Given the description of an element on the screen output the (x, y) to click on. 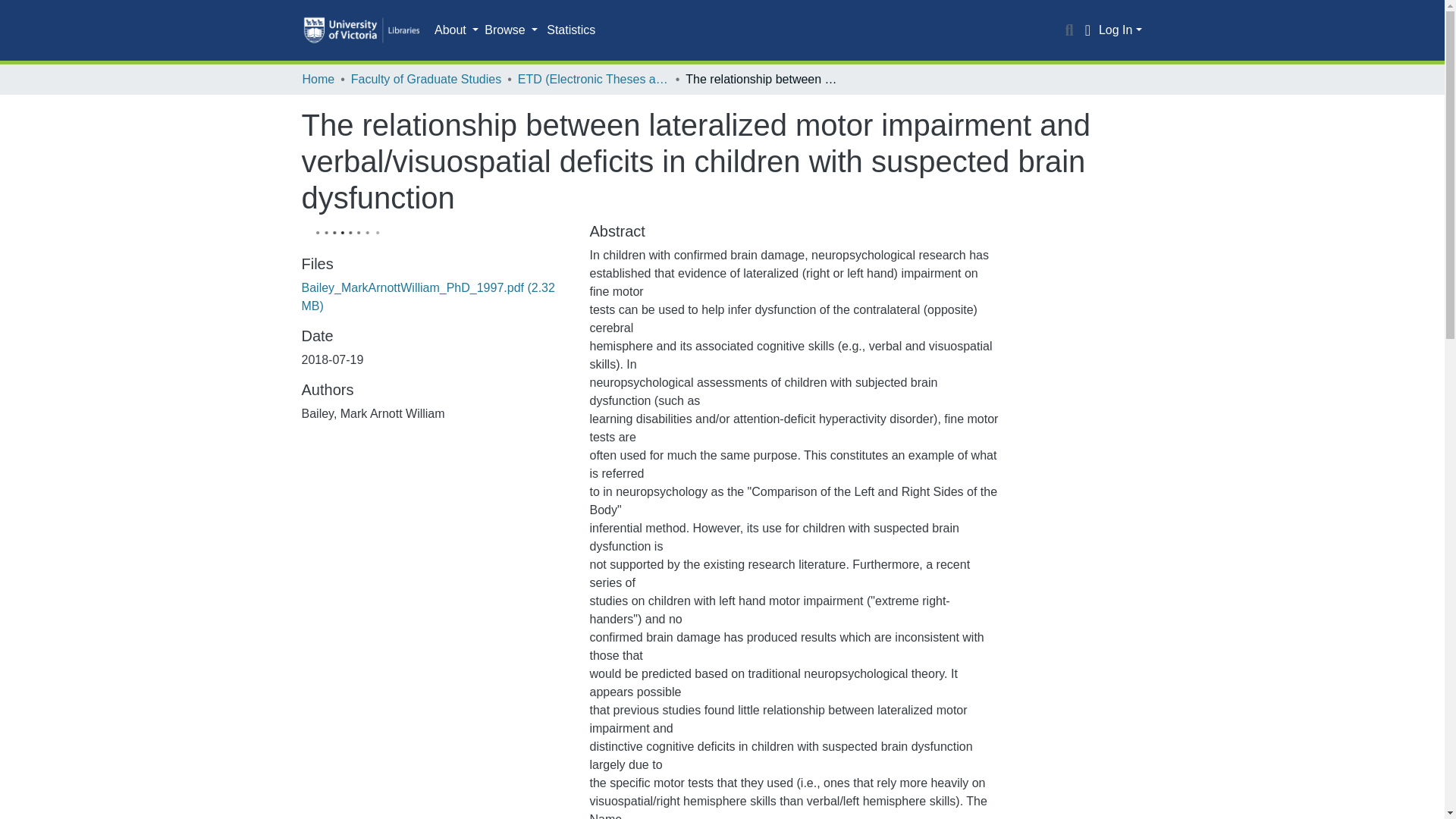
Language switch (1087, 30)
Browse (510, 30)
Home (317, 79)
Statistics (570, 30)
Log In (1119, 29)
Search (1068, 30)
About (455, 30)
Faculty of Graduate Studies (425, 79)
Statistics (570, 30)
